Given the description of an element on the screen output the (x, y) to click on. 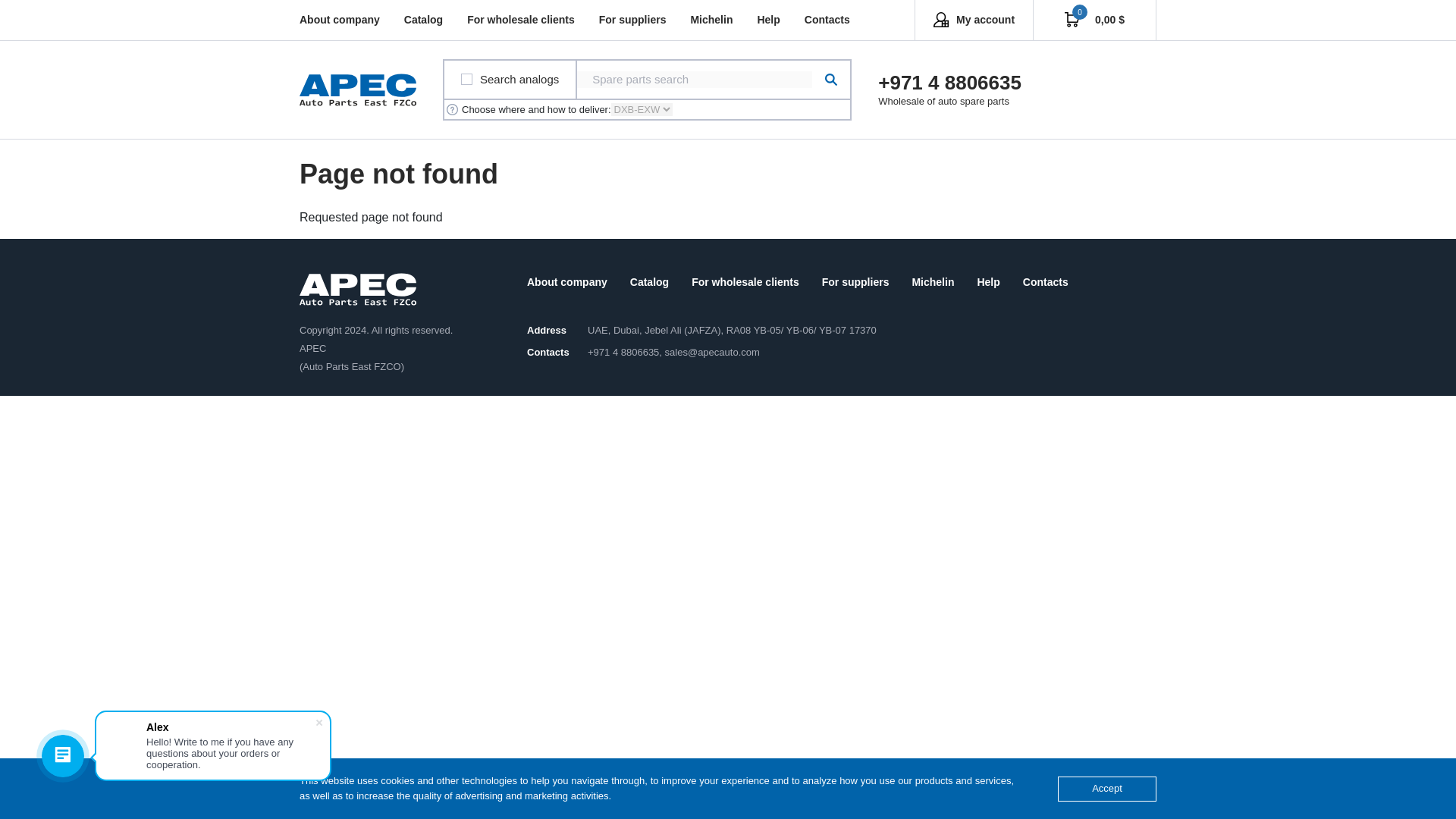
For suppliers (632, 19)
Help (767, 19)
Michelin (711, 19)
Contacts (827, 19)
For wholesale clients (521, 19)
About company (339, 19)
Catalog (423, 19)
